Given the description of an element on the screen output the (x, y) to click on. 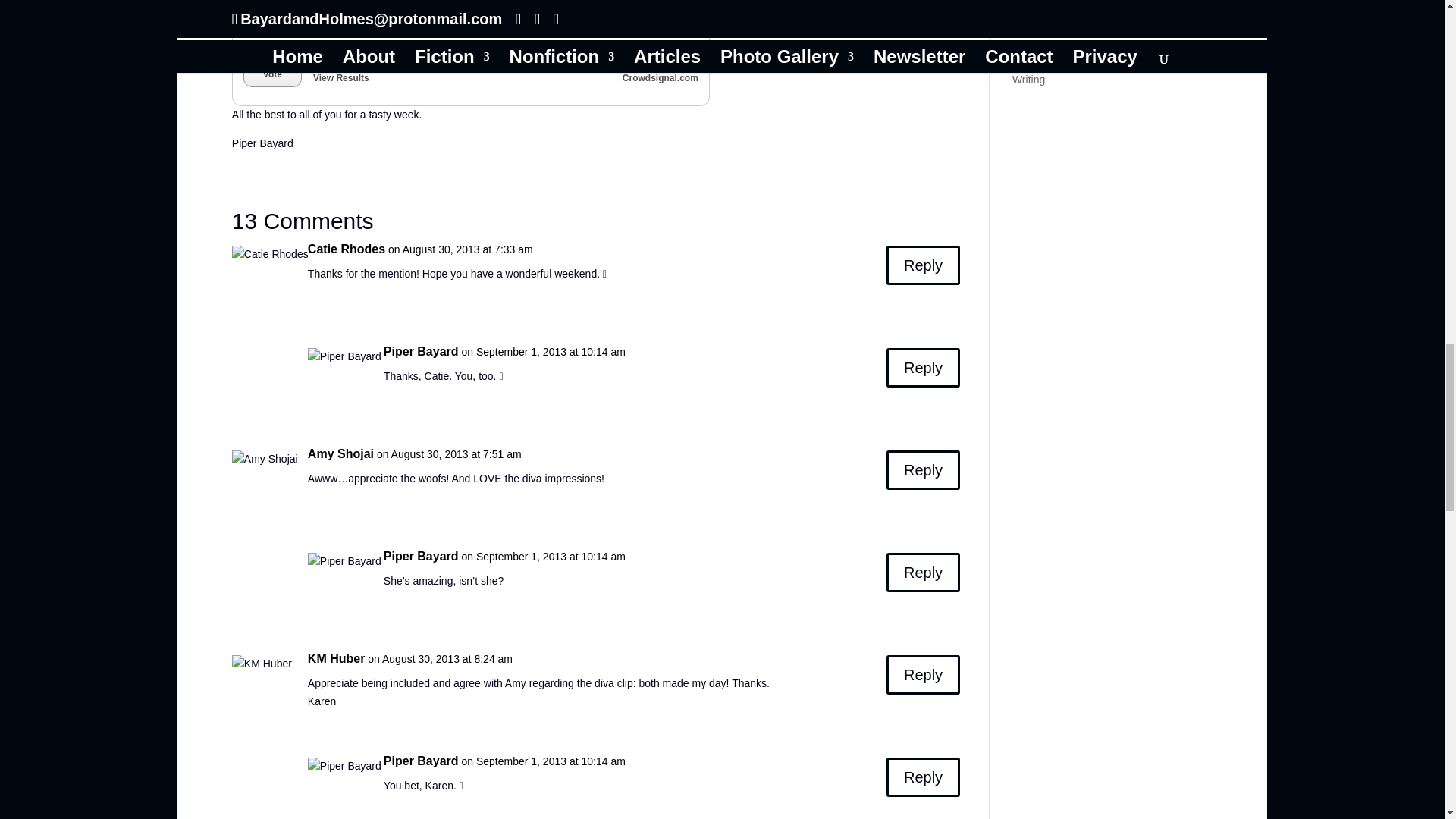
33404018 (252, 21)
